Given the description of an element on the screen output the (x, y) to click on. 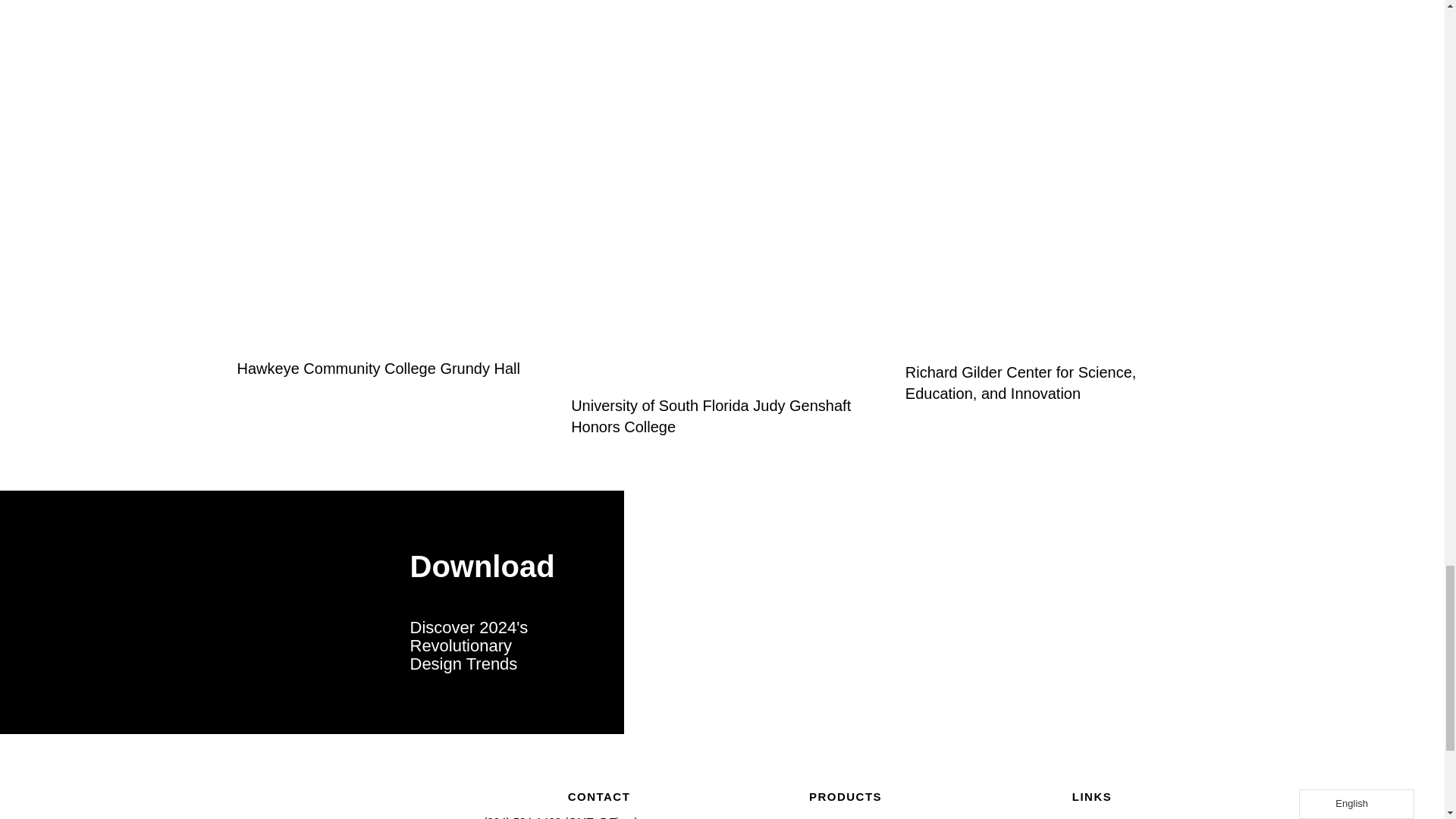
University of South Florida Judy Genshaft Honors College (710, 415)
Hawkeye Community College Grundy Hall (377, 368)
Richard Gilder Center for Science, Education, and Innovation (1021, 382)
